Given the description of an element on the screen output the (x, y) to click on. 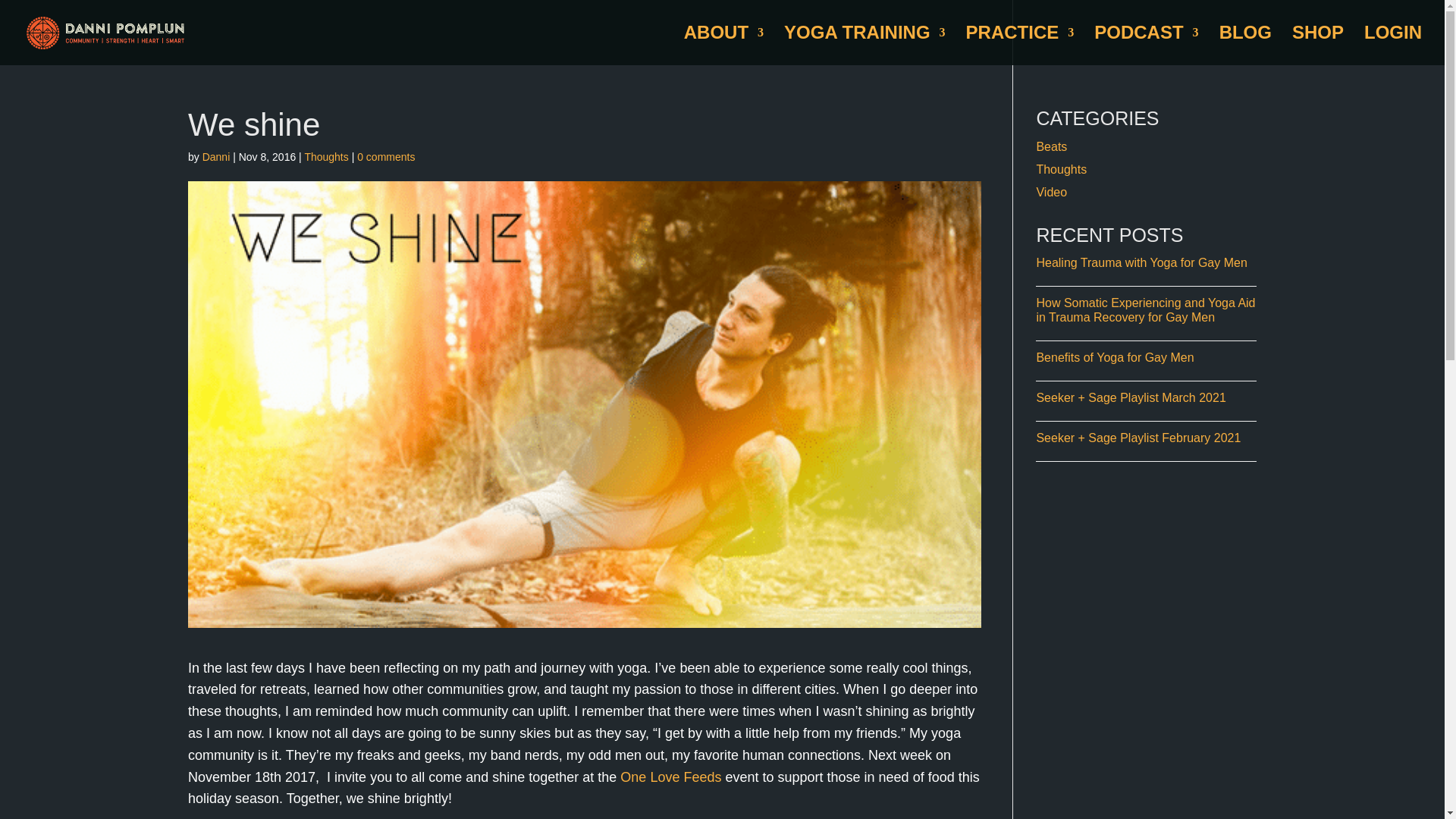
ABOUT (723, 46)
YOGA TRAINING (864, 46)
PRACTICE (1020, 46)
LOGIN (1393, 46)
Posts by Danni (216, 156)
PODCAST (1146, 46)
BLOG (1245, 46)
SHOP (1317, 46)
